Given the description of an element on the screen output the (x, y) to click on. 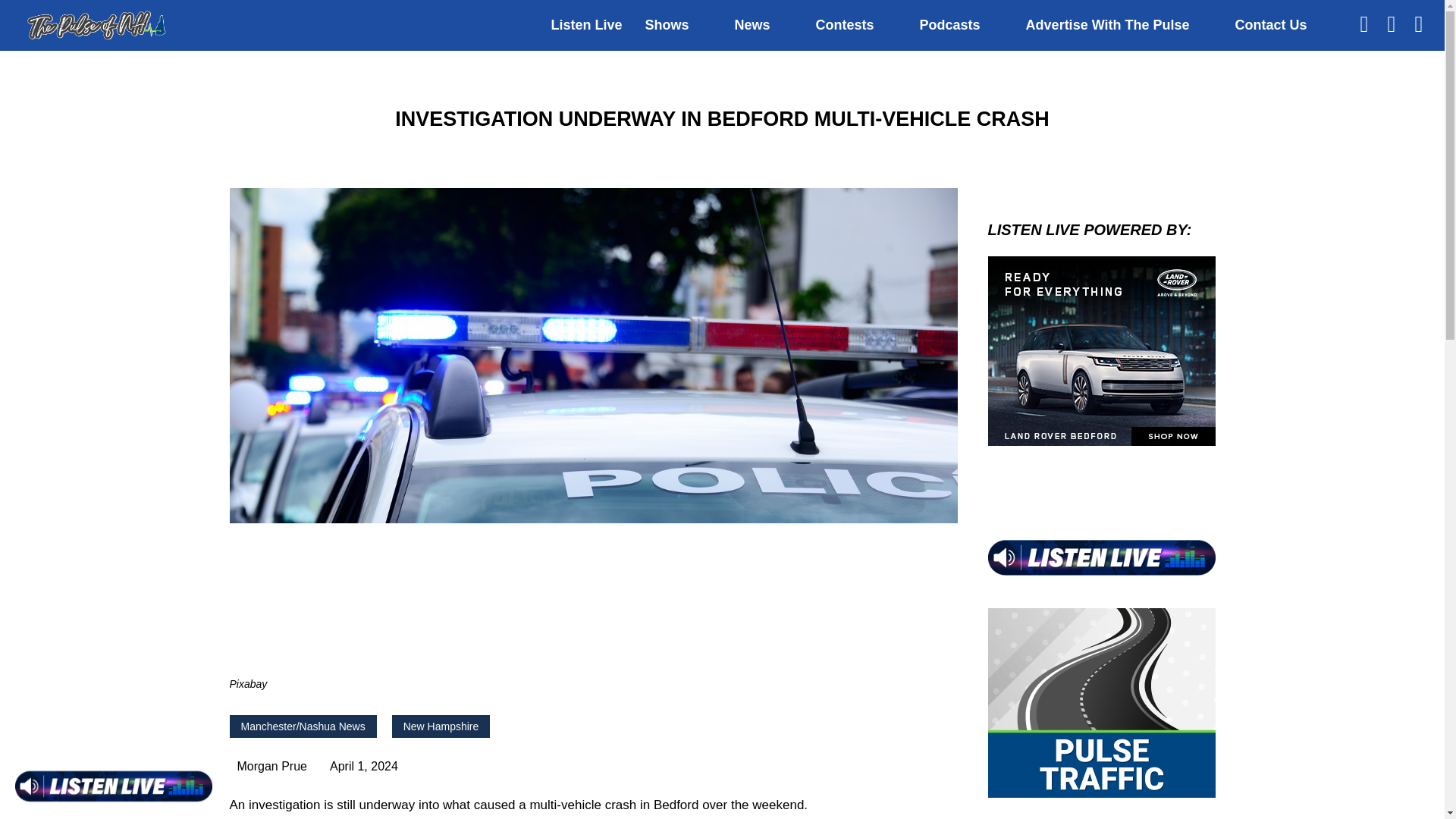
Advertise With The Pulse (1107, 25)
Contact Us (1270, 25)
Listen Live (585, 25)
Shows (666, 25)
Podcasts (949, 25)
Contests (845, 25)
News (752, 25)
